Given the description of an element on the screen output the (x, y) to click on. 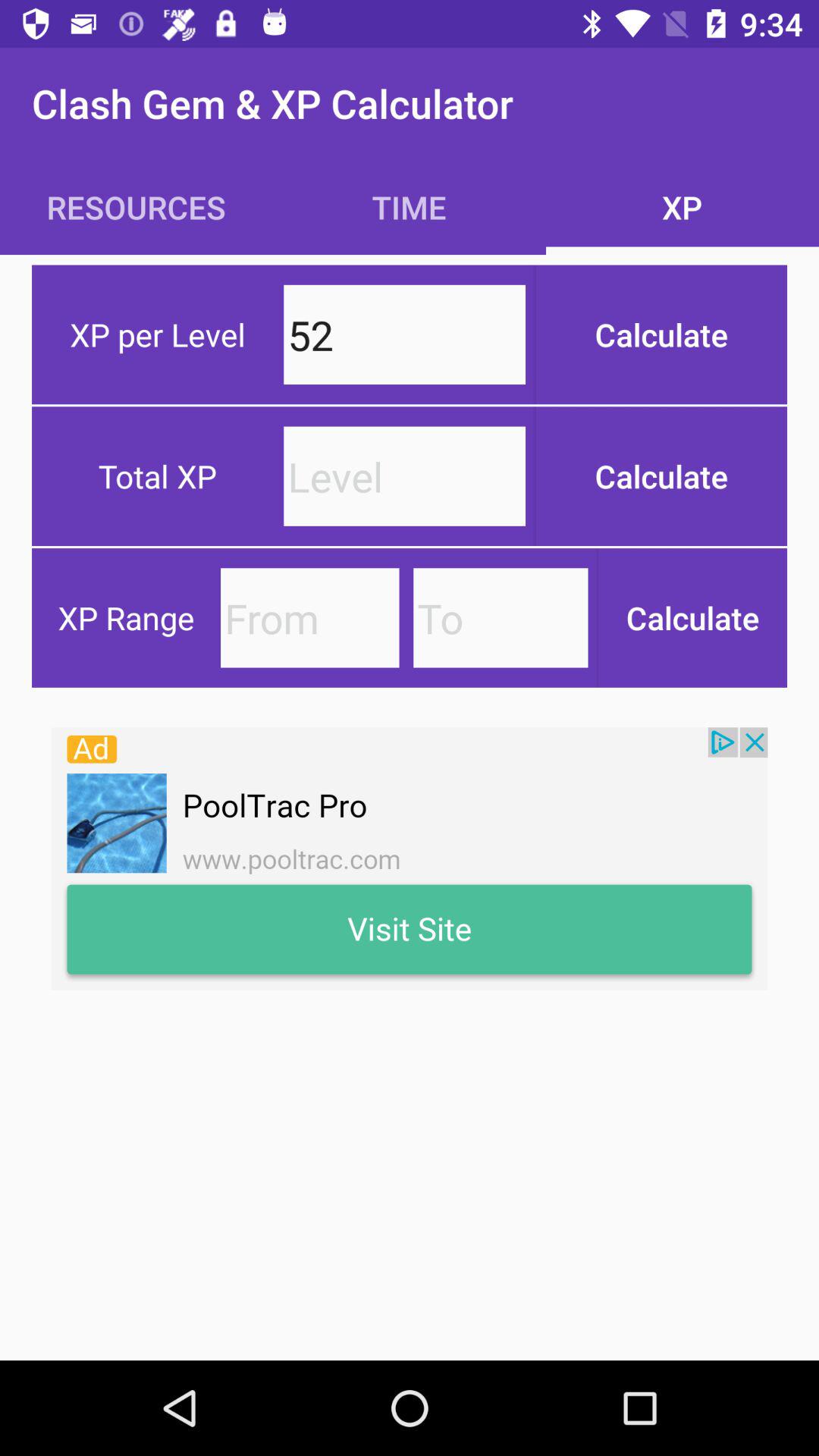
go to advertisement website (409, 858)
